Given the description of an element on the screen output the (x, y) to click on. 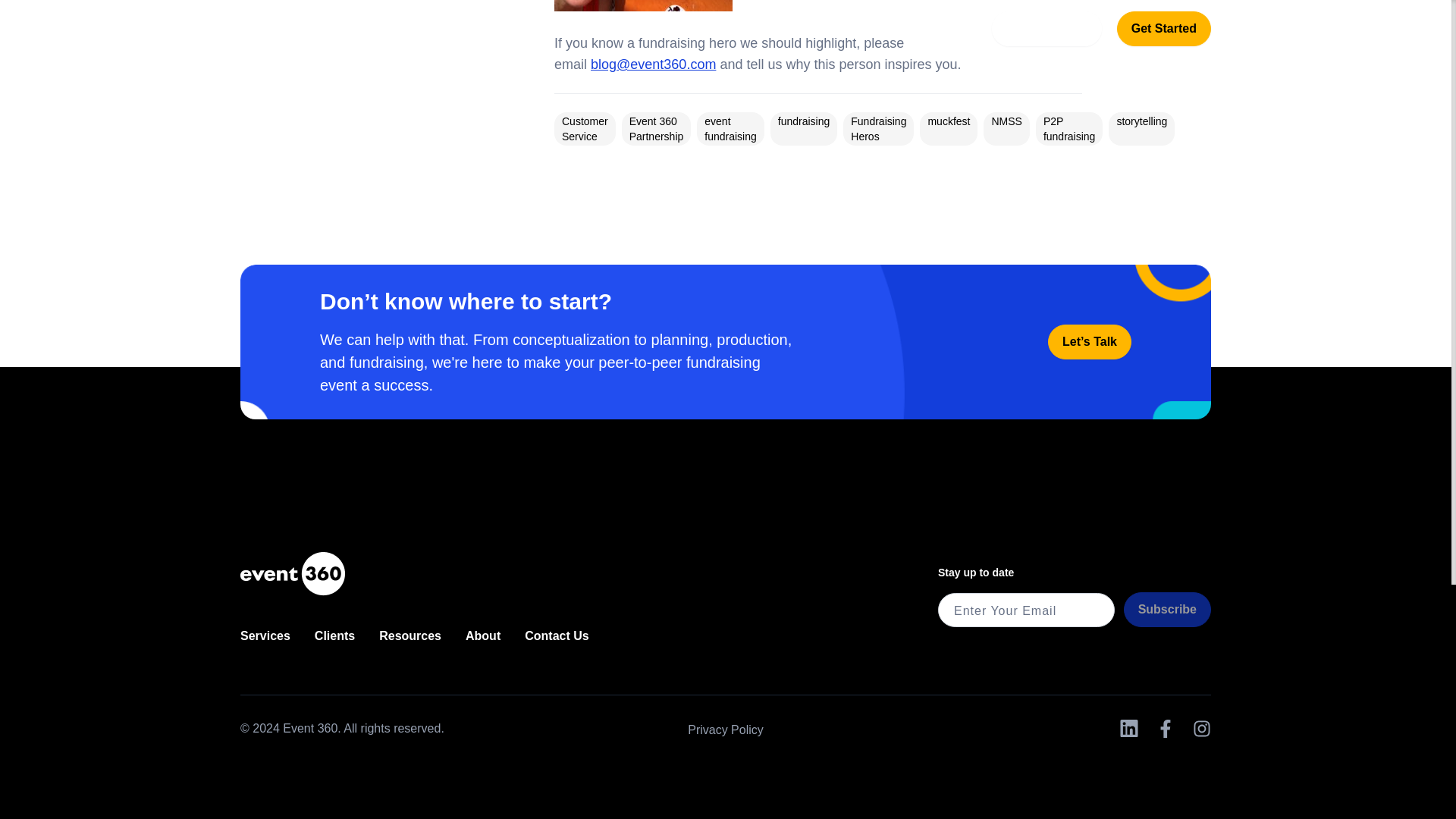
Event 360 Partnership (656, 128)
Fundraising Heros (877, 128)
storytelling (1141, 121)
NMSS (1006, 121)
P2P fundraising (1069, 128)
Customer Service (585, 128)
muckfest (948, 121)
Services (264, 635)
fundraising (803, 121)
event fundraising (730, 128)
